Given the description of an element on the screen output the (x, y) to click on. 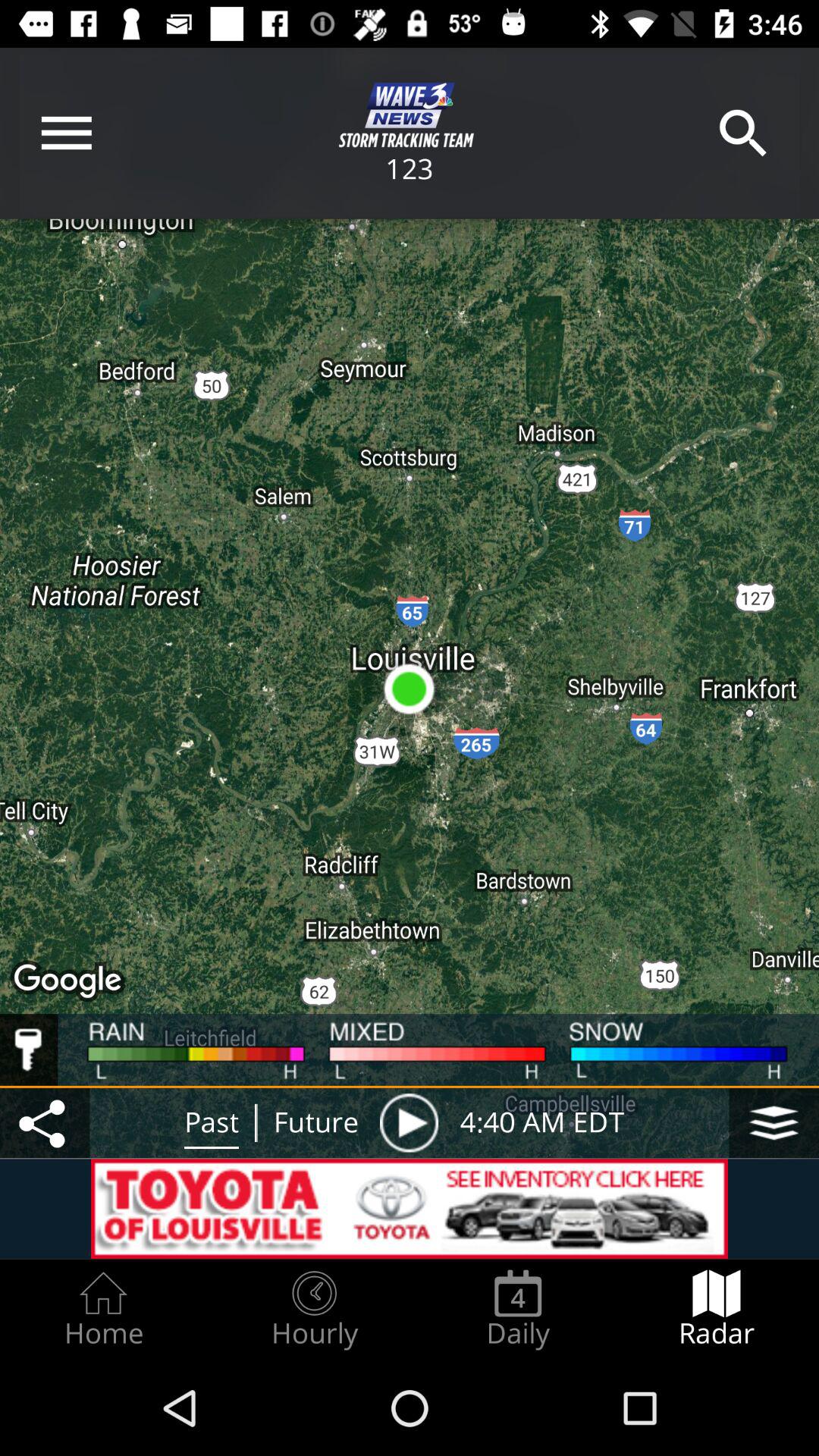
click on search icon (743, 133)
click on tab beside home tab (314, 1309)
select the option past which is after share symbol (211, 1123)
